Given the description of an element on the screen output the (x, y) to click on. 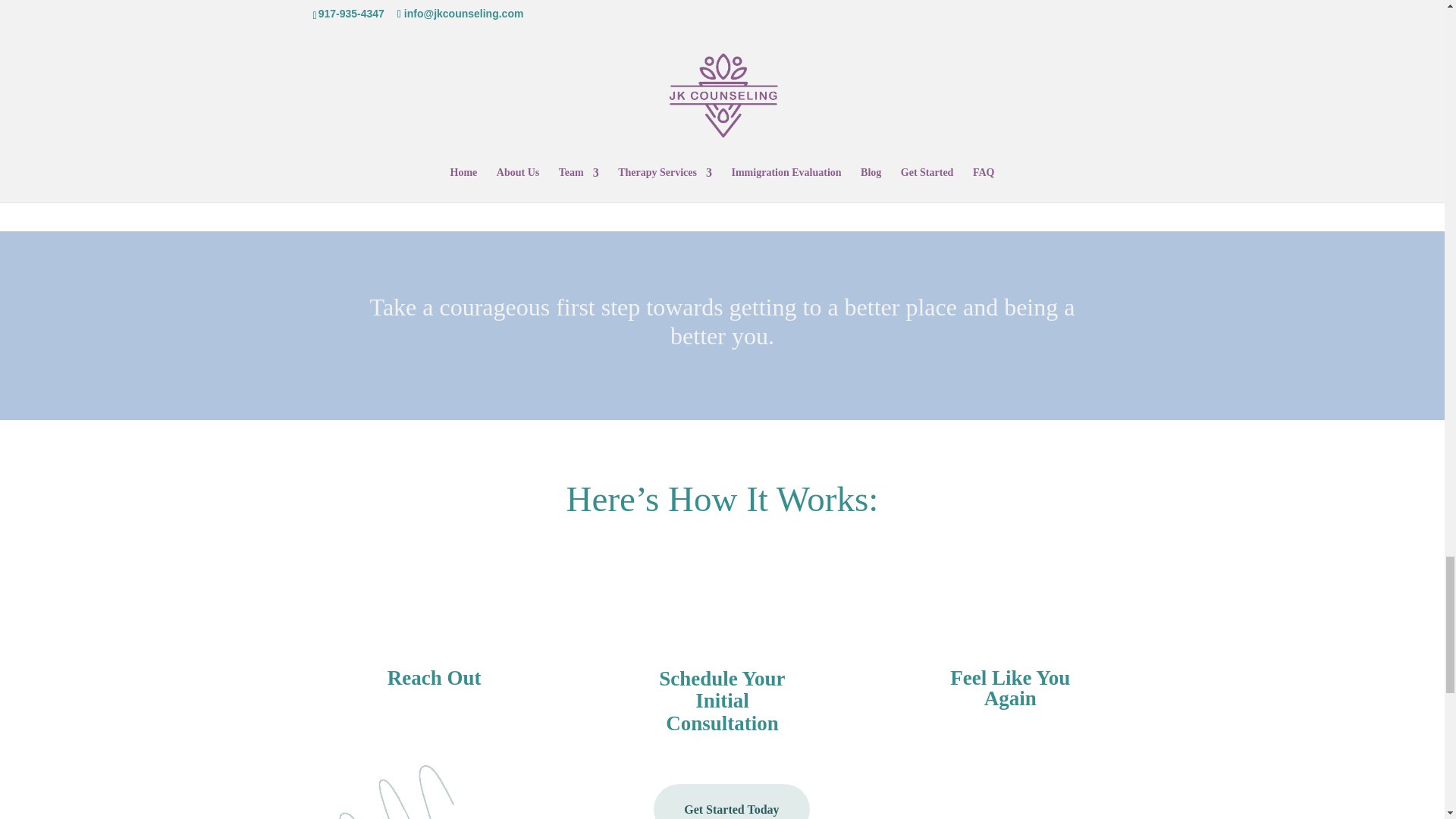
therapy-27 (382, 791)
